Given the description of an element on the screen output the (x, y) to click on. 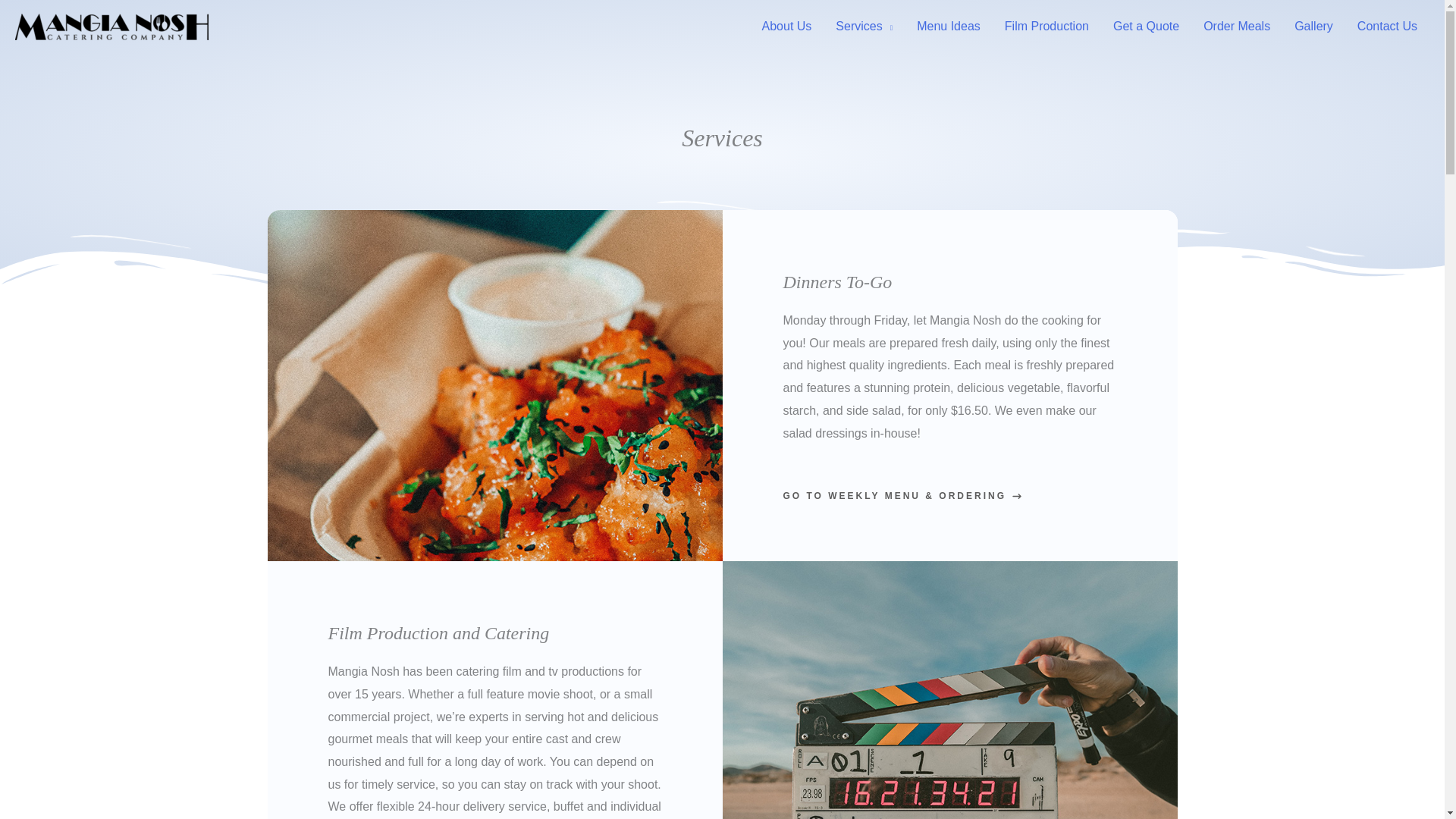
Get a Quote (1145, 26)
Menu Ideas (948, 26)
About Us (786, 26)
Gallery (1313, 26)
Contact Us (1387, 26)
Services (864, 26)
Order Meals (1236, 26)
Film Production (1046, 26)
